Given the description of an element on the screen output the (x, y) to click on. 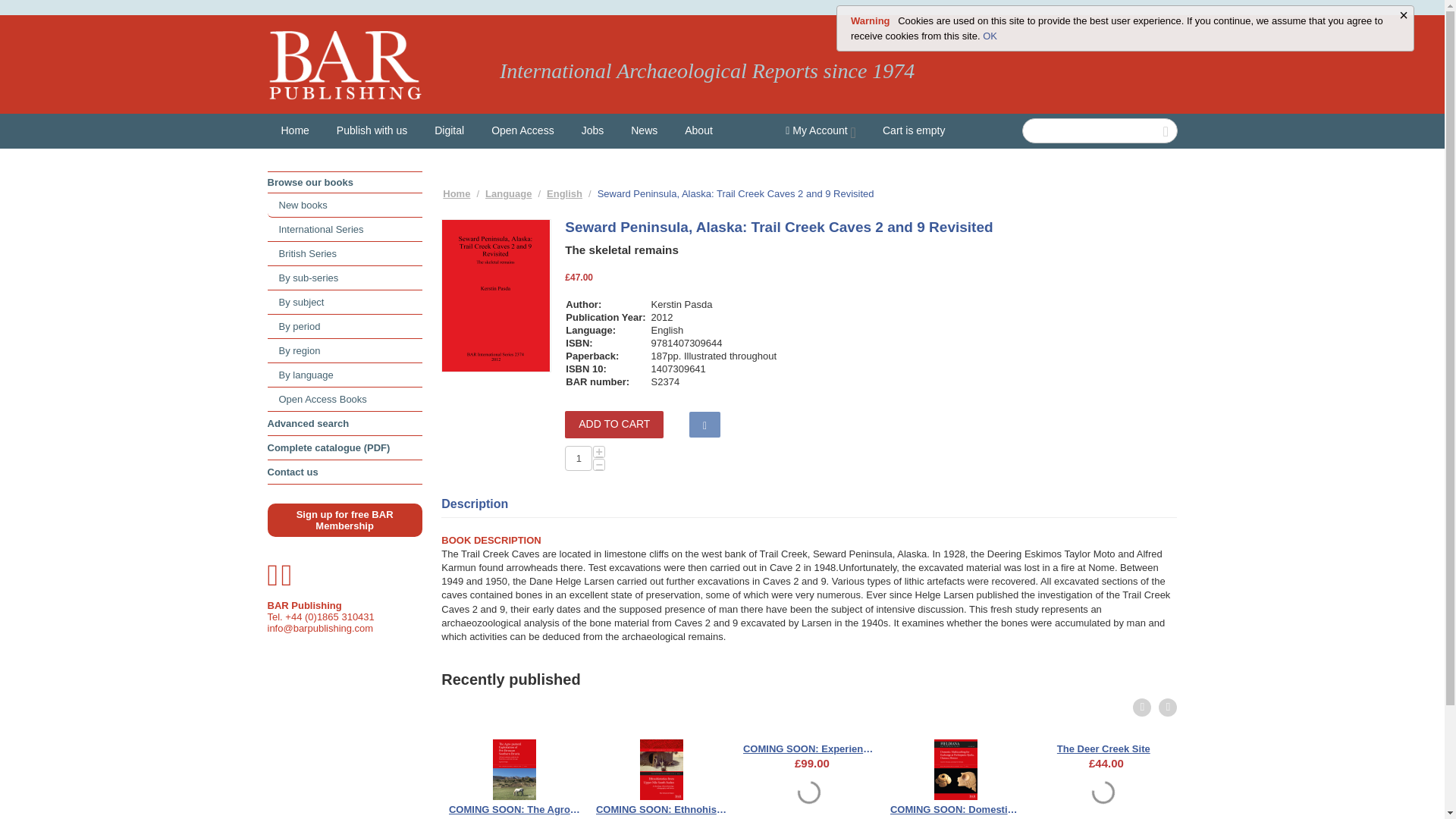
BAR on Twitter (273, 582)
Open Access Books (344, 399)
 My Account (820, 130)
British Series (344, 253)
International Series (344, 229)
Contact us (344, 472)
By sub-series (344, 278)
Jobs (592, 130)
OK (989, 35)
Add to wish list (704, 424)
1 (578, 457)
COMING SOON: Experiencing the Landscape in Antiquity 3 (809, 746)
Cart is empty (913, 130)
